Given the description of an element on the screen output the (x, y) to click on. 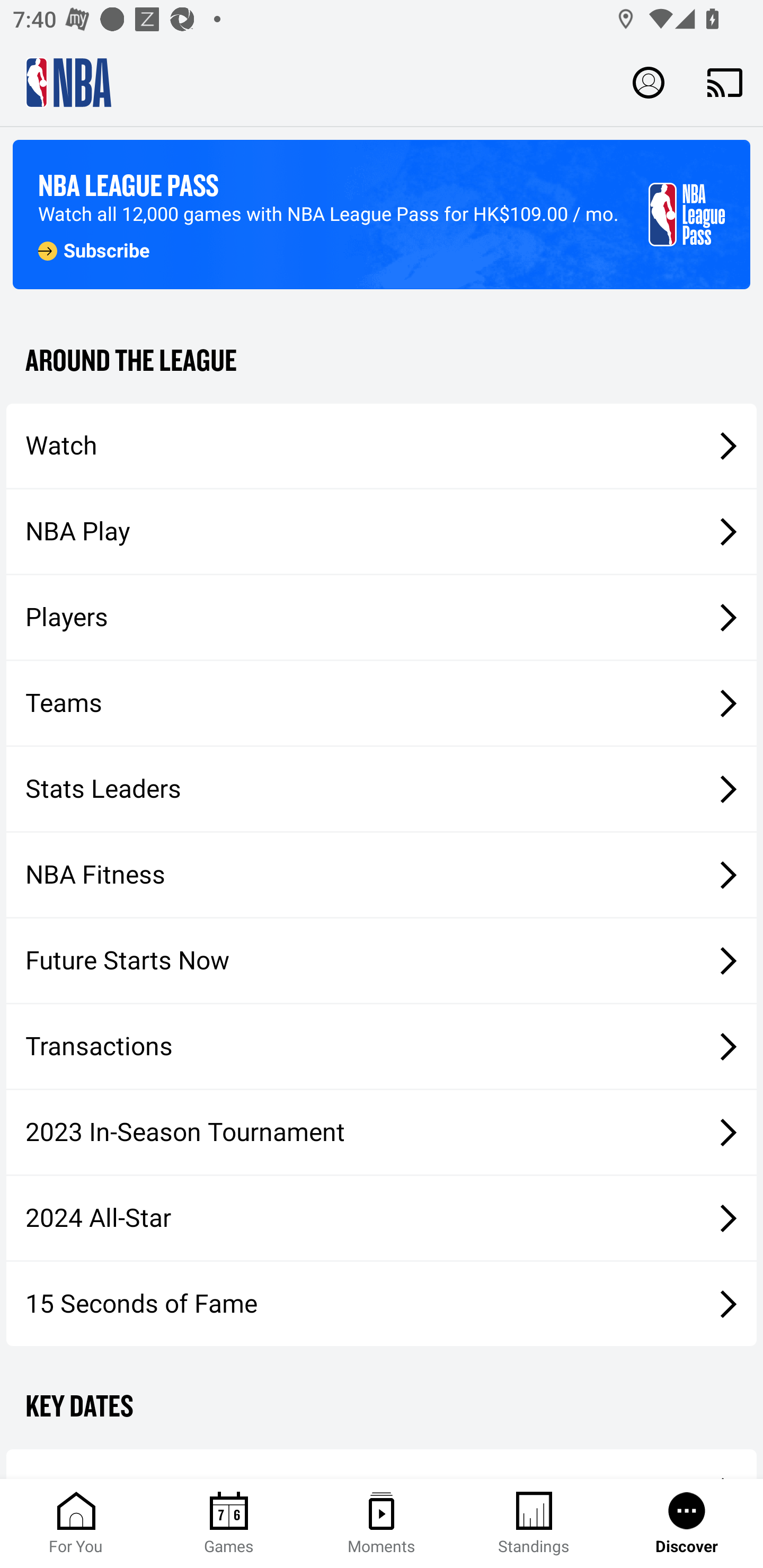
Cast. Disconnected (724, 82)
Profile (648, 81)
Watch (381, 444)
NBA Play (381, 531)
Players (381, 617)
Teams (381, 702)
Stats Leaders (381, 788)
NBA Fitness (381, 874)
Future Starts Now (381, 960)
Transactions (381, 1046)
2023 In-Season Tournament (381, 1131)
2024 All-Star (381, 1218)
15 Seconds of Fame (381, 1303)
For You (76, 1523)
Games (228, 1523)
Moments (381, 1523)
Standings (533, 1523)
